Given the description of an element on the screen output the (x, y) to click on. 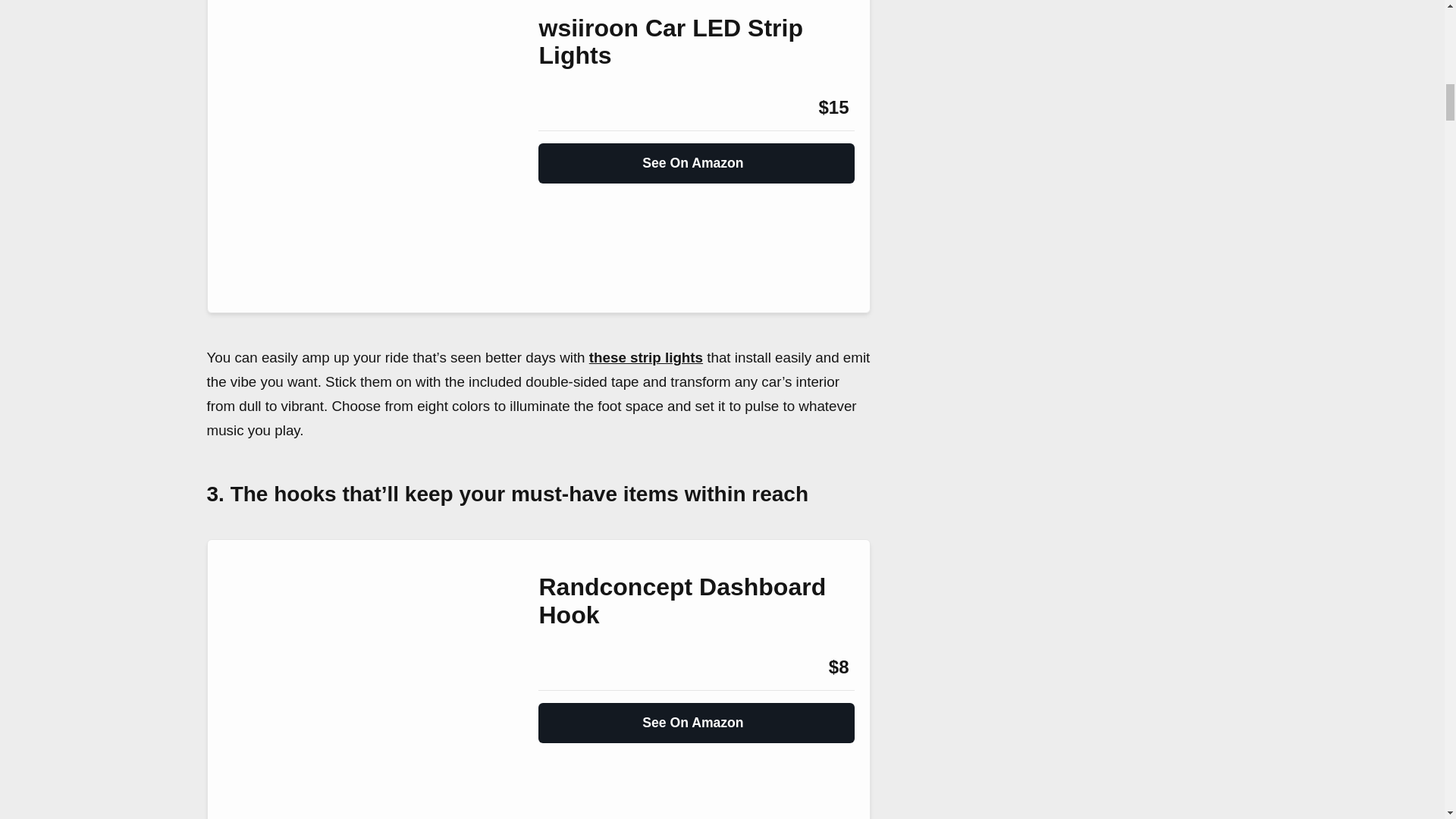
Amazon (579, 107)
See On Amazon (696, 716)
these strip lights (646, 357)
Amazon (579, 667)
See On Amazon (696, 156)
